Given the description of an element on the screen output the (x, y) to click on. 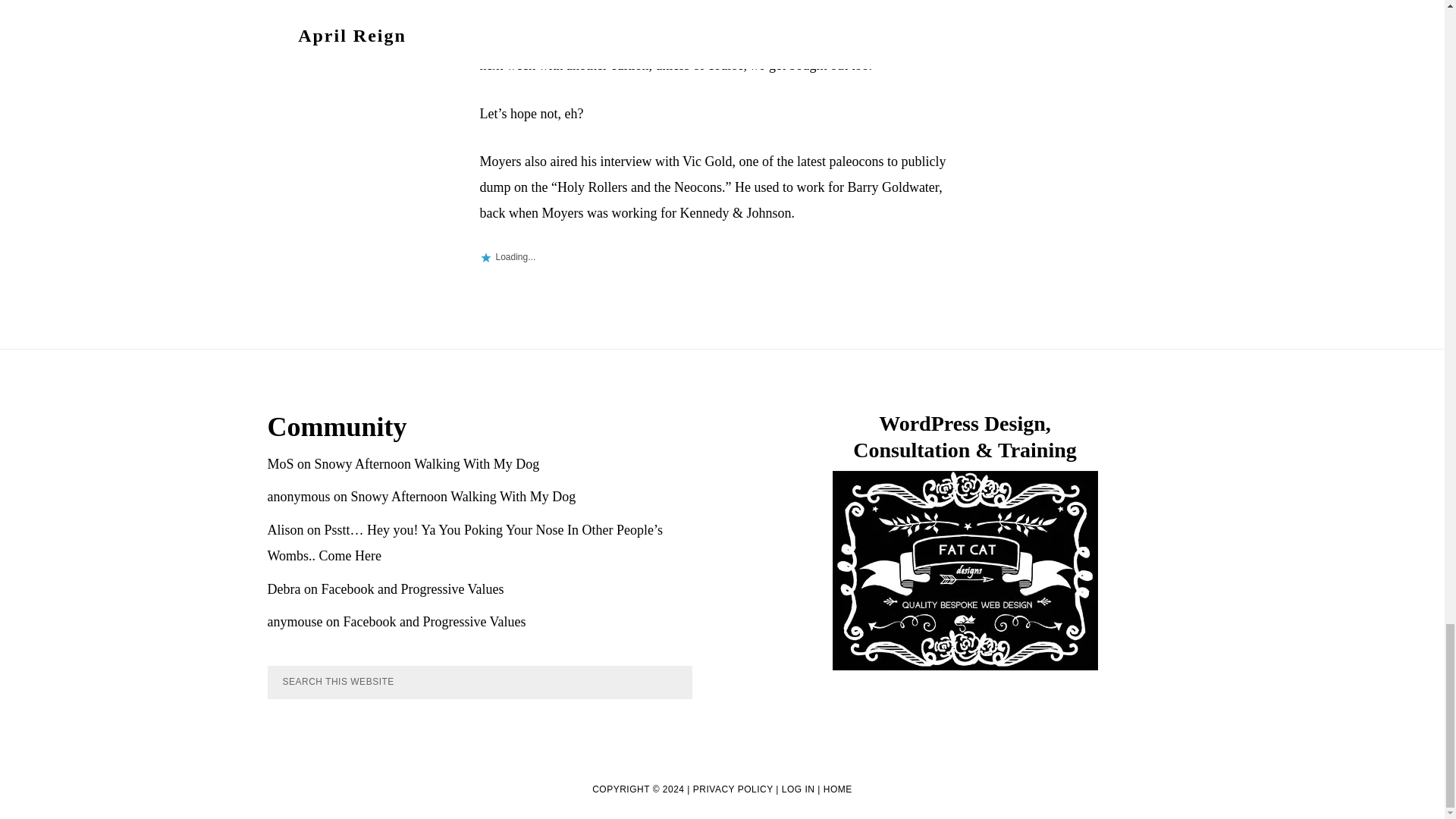
Facebook and Progressive Values (411, 589)
Snowy Afternoon Walking With My Dog (462, 496)
PRIVACY POLICY (733, 788)
Alison (284, 529)
Snowy Afternoon Walking With My Dog (427, 463)
Facebook and Progressive Values (433, 621)
HOME (837, 788)
